Given the description of an element on the screen output the (x, y) to click on. 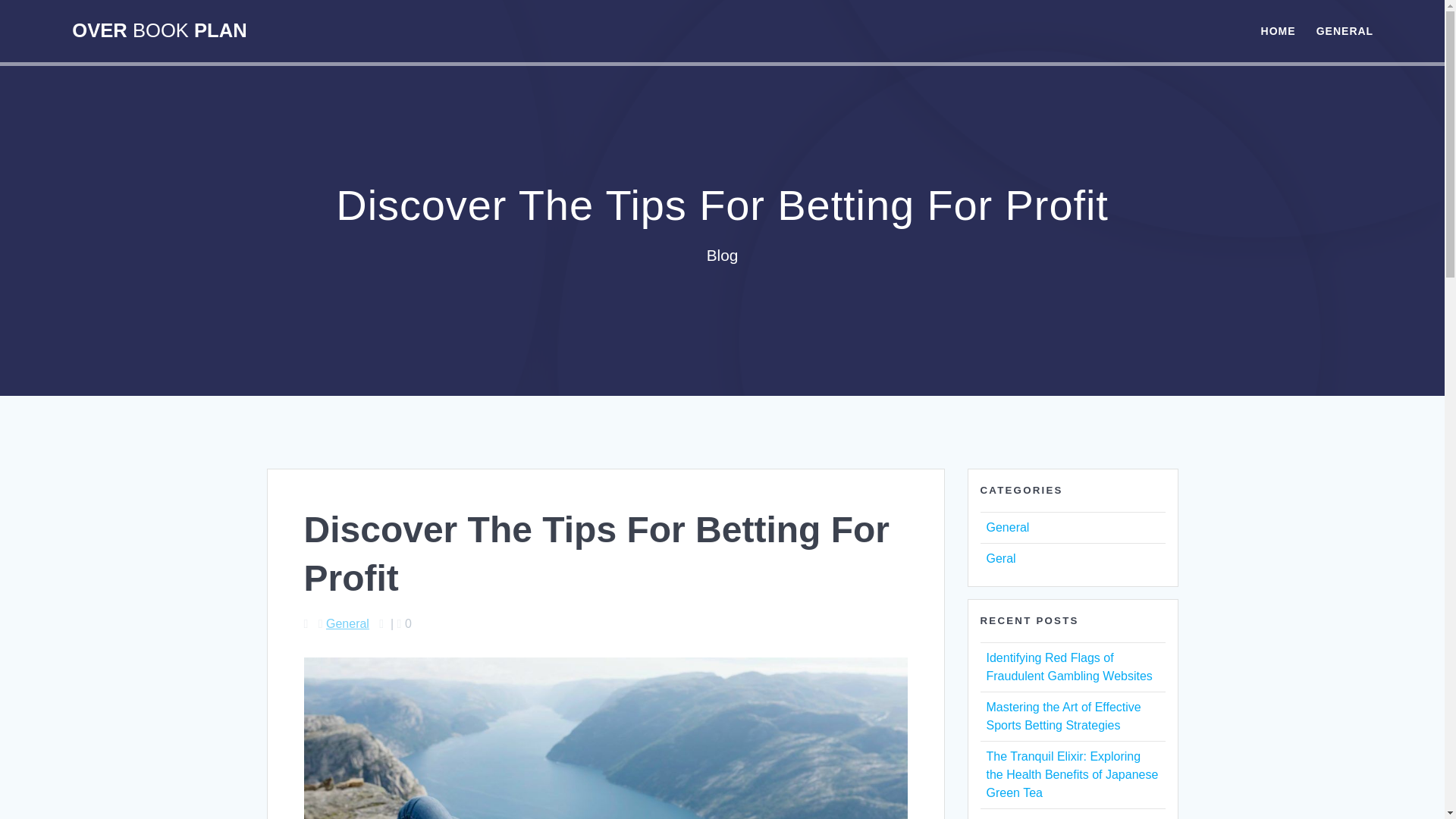
OVER BOOK PLAN (158, 30)
GENERAL (1344, 30)
HOME (1277, 30)
Identifying Red Flags of Fraudulent Gambling Websites (1068, 666)
General (1007, 526)
General (347, 623)
Mastering the Art of Effective Sports Betting Strategies (1062, 716)
Geral (999, 558)
